Given the description of an element on the screen output the (x, y) to click on. 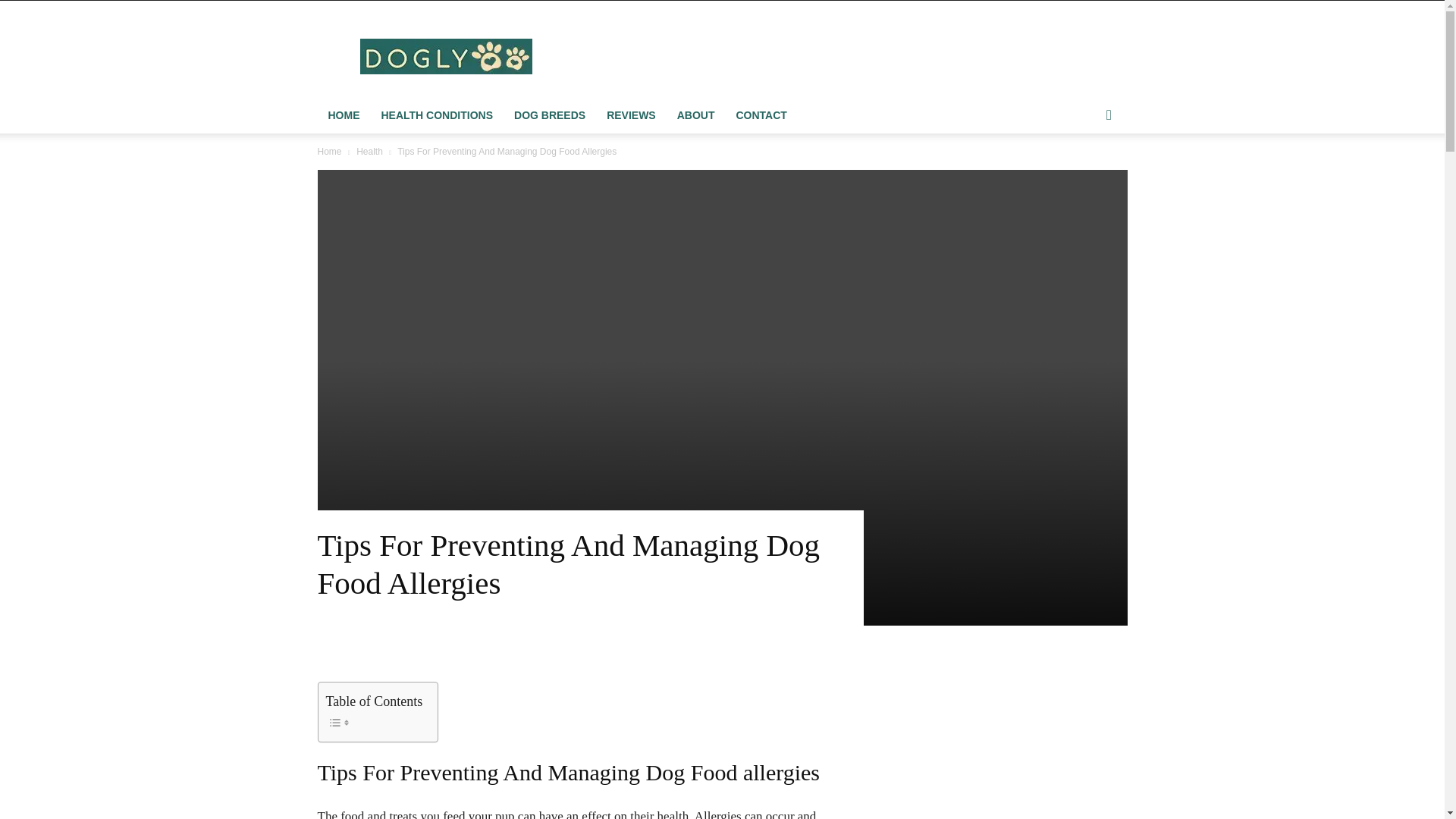
HOME (343, 115)
CONTACT (760, 115)
DOG BREEDS (549, 115)
Search (1085, 175)
Home (328, 151)
HEALTH CONDITIONS (436, 115)
View all posts in Health (369, 151)
Health (369, 151)
ABOUT (695, 115)
REVIEWS (630, 115)
